Given the description of an element on the screen output the (x, y) to click on. 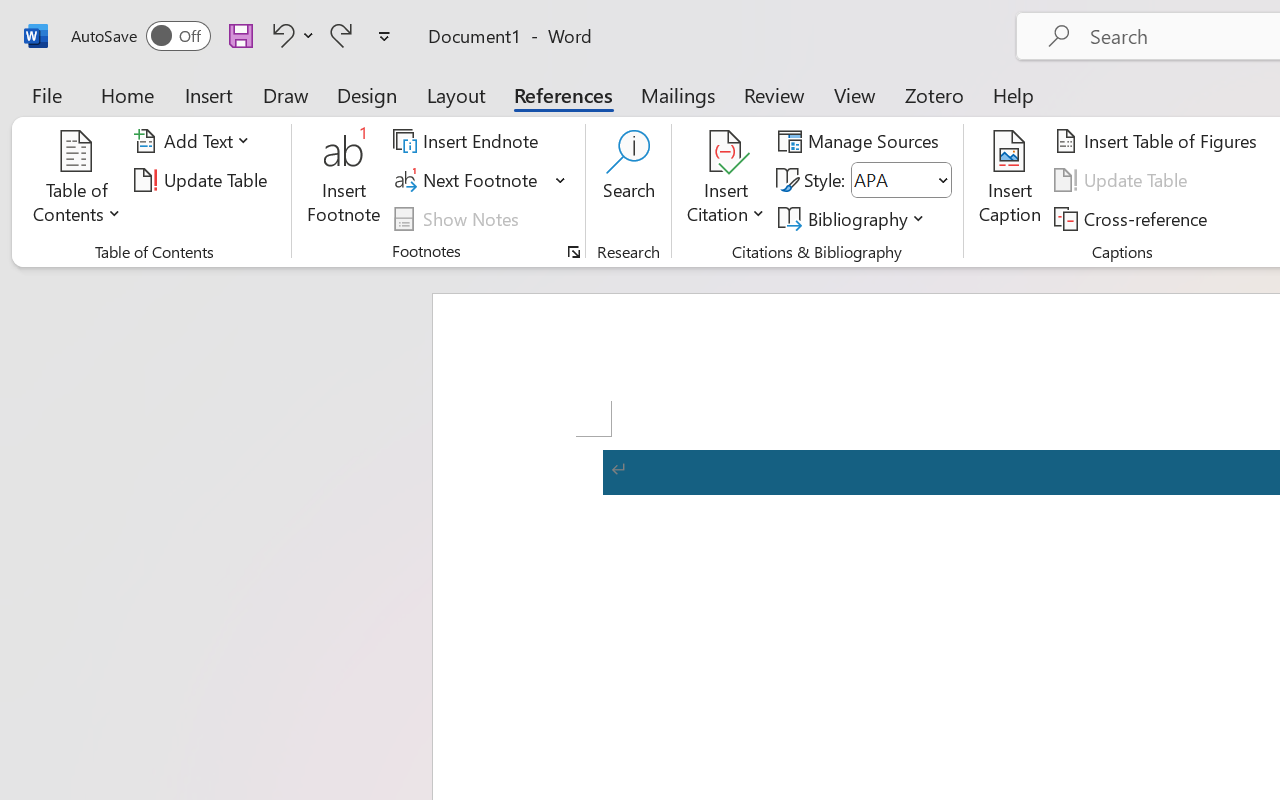
Bibliography (854, 218)
Undo Apply Quick Style Set (280, 35)
Style (901, 179)
Manage Sources... (861, 141)
Style (892, 179)
Insert Endnote (468, 141)
Add Text (195, 141)
